Given the description of an element on the screen output the (x, y) to click on. 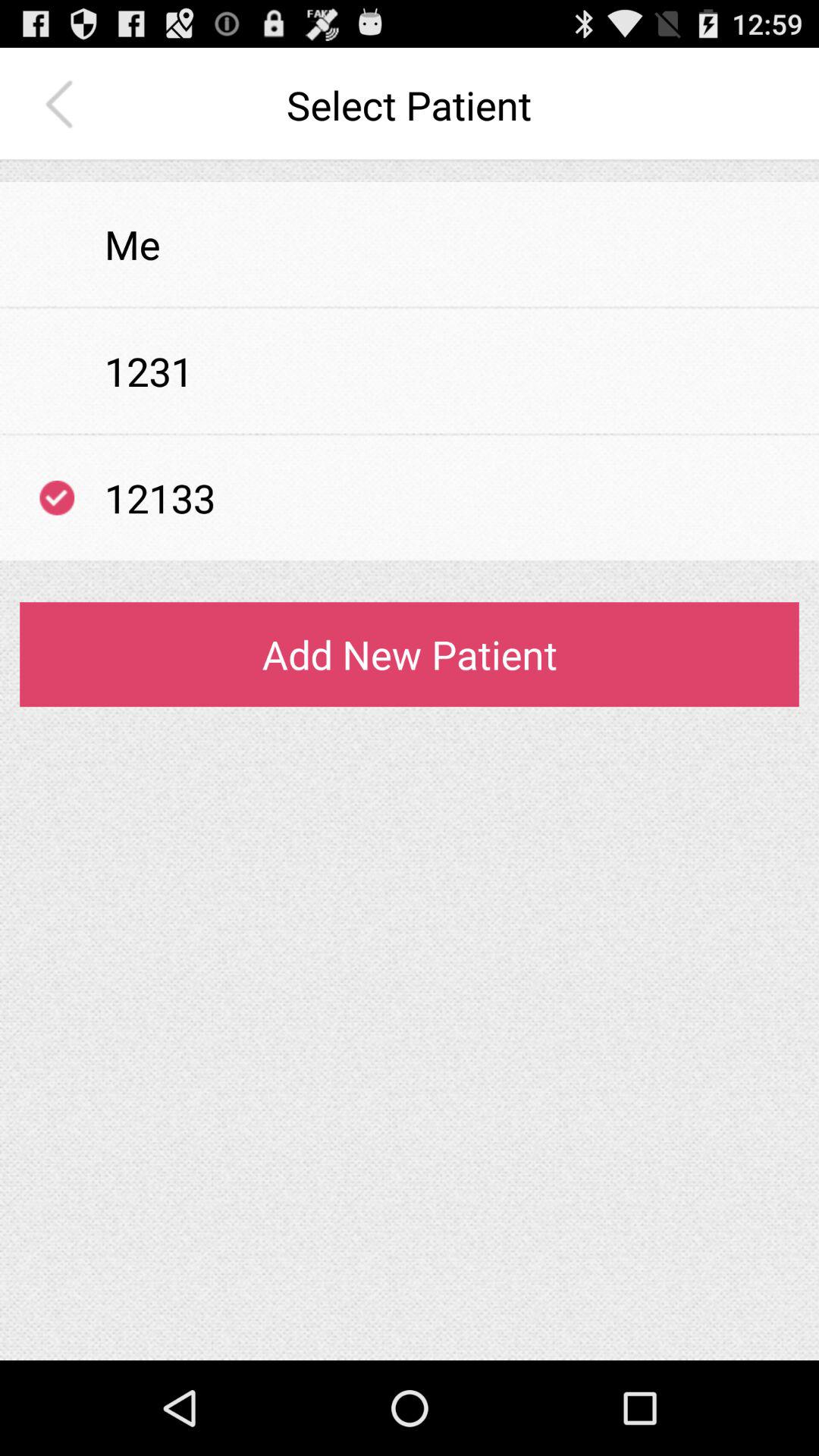
tap item above the add new patient (409, 561)
